Given the description of an element on the screen output the (x, y) to click on. 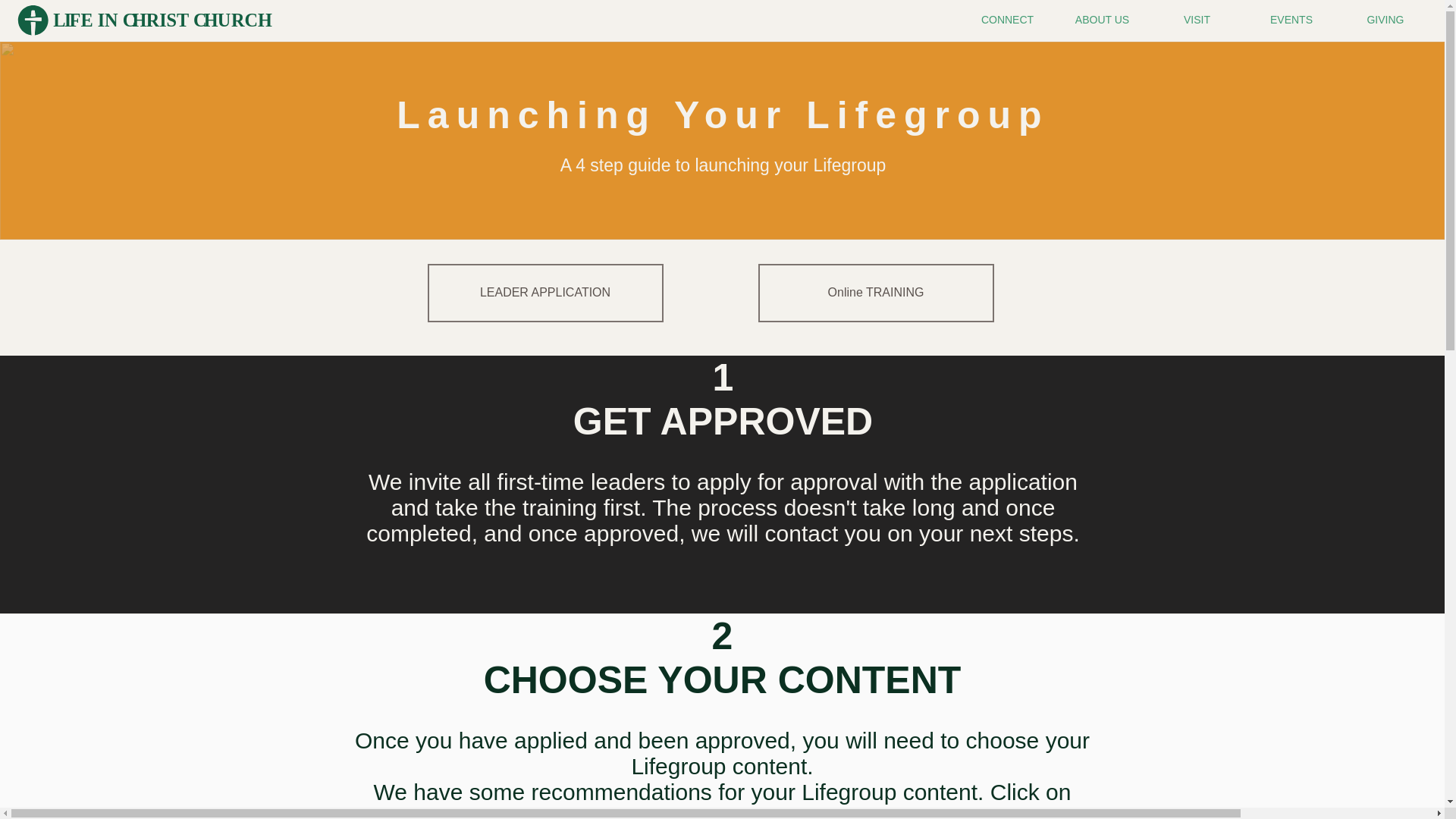
Online TRAINING (876, 292)
LIFE IN CHRIST CHURCH (144, 20)
VISIT (1197, 19)
ABOUT US (1102, 19)
CONNECT (1006, 19)
LEADER APPLICATION (545, 292)
GIVING (1385, 19)
LIFE IN CHRIST CHURCH (144, 20)
EVENTS (1291, 19)
